Given the description of an element on the screen output the (x, y) to click on. 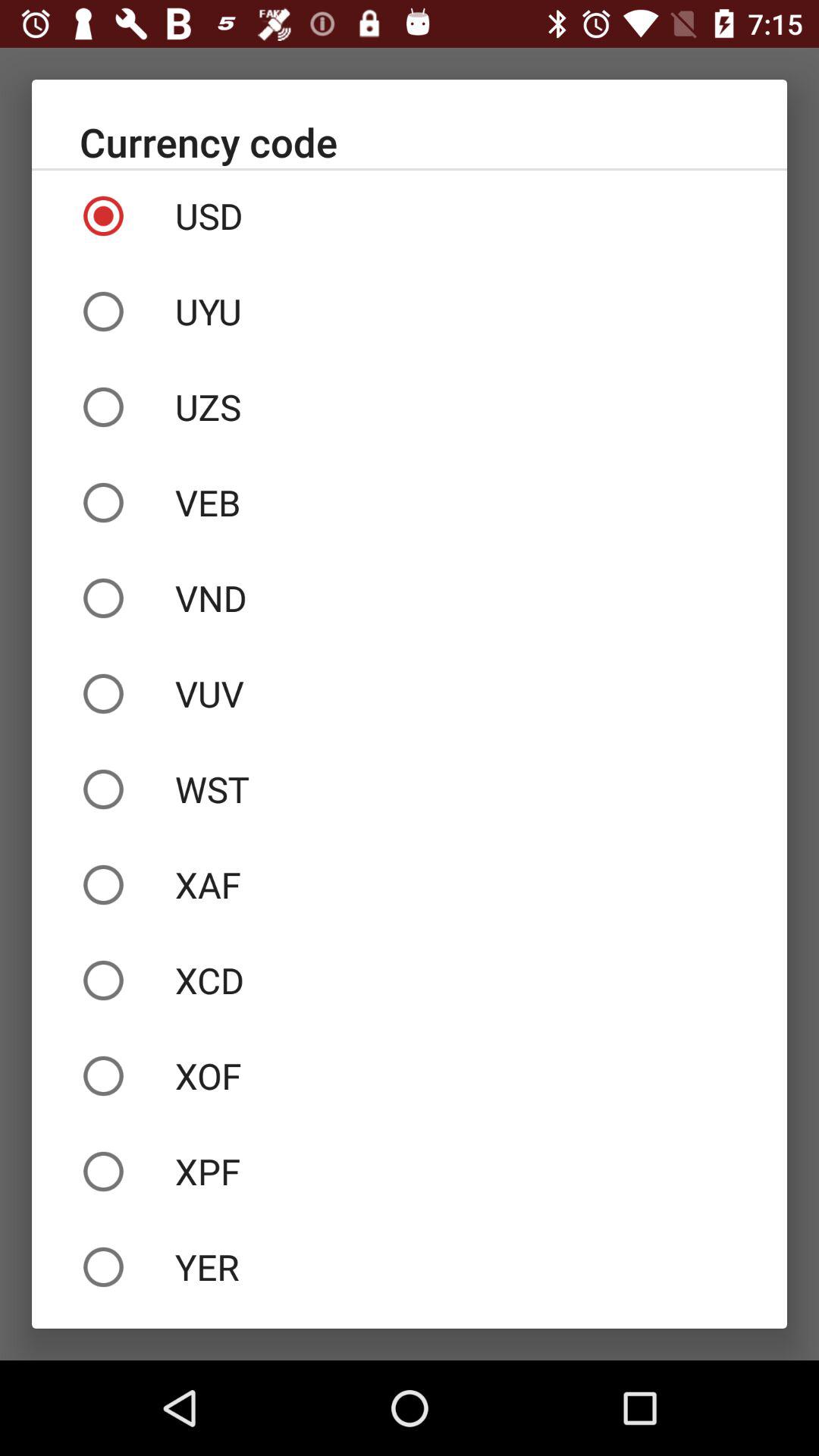
choose the veb icon (409, 502)
